Given the description of an element on the screen output the (x, y) to click on. 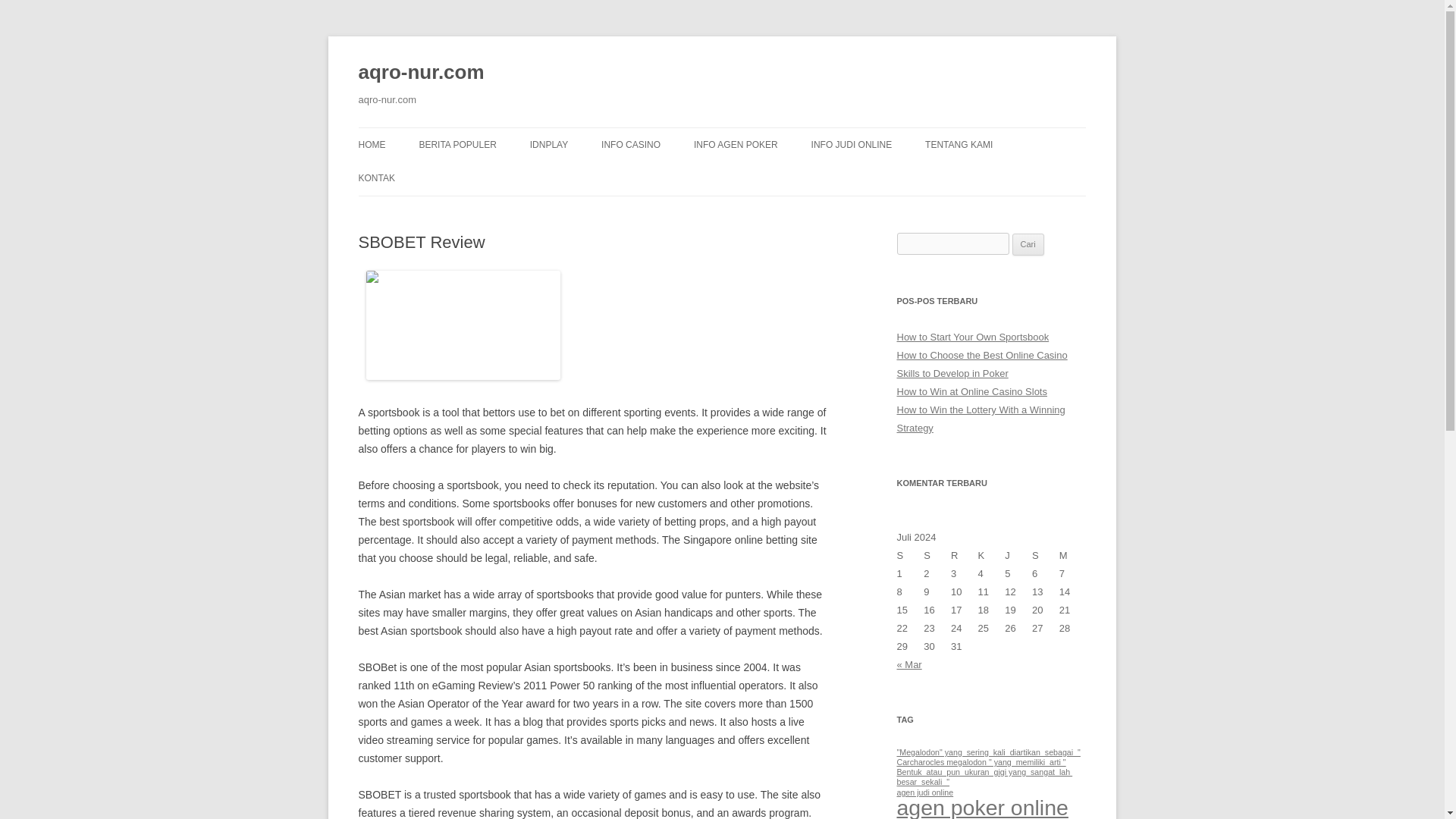
Cari (1027, 244)
agen judi online (924, 791)
Minggu (1072, 556)
Sabtu (1045, 556)
Jumat (1018, 556)
How to Choose the Best Online Casino (981, 355)
IDNPLAY (548, 144)
Kamis (992, 556)
INFO CASINO (631, 144)
Senin (909, 556)
How to Win at Online Casino Slots (971, 391)
TENTANG KAMI (958, 144)
agen sbobet (955, 817)
Selasa (936, 556)
KONTAK (376, 177)
